Given the description of an element on the screen output the (x, y) to click on. 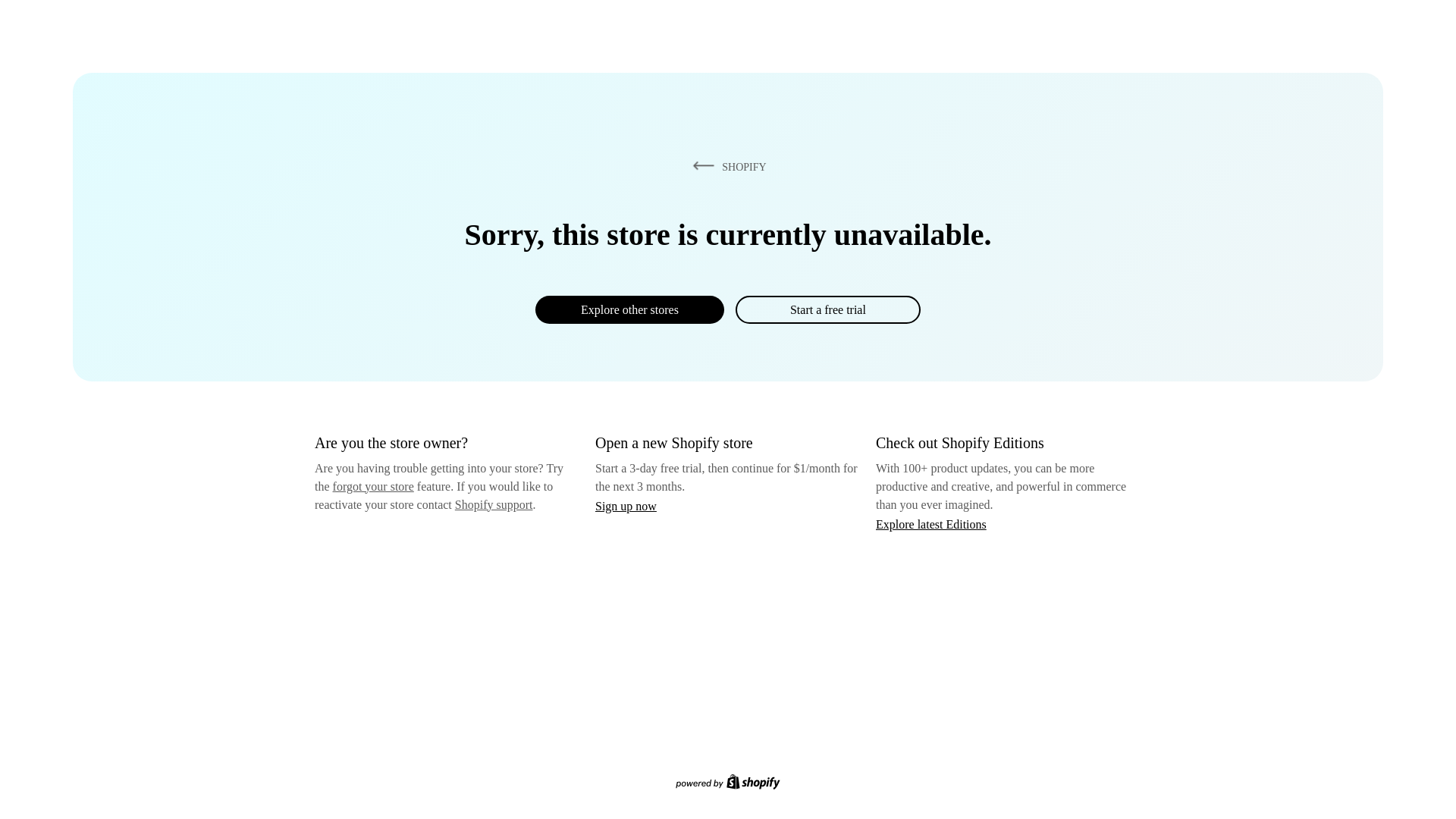
forgot your store (373, 486)
Sign up now (625, 505)
Start a free trial (827, 309)
Explore latest Editions (931, 523)
Explore other stores (629, 309)
Shopify support (493, 504)
SHOPIFY (726, 166)
